Given the description of an element on the screen output the (x, y) to click on. 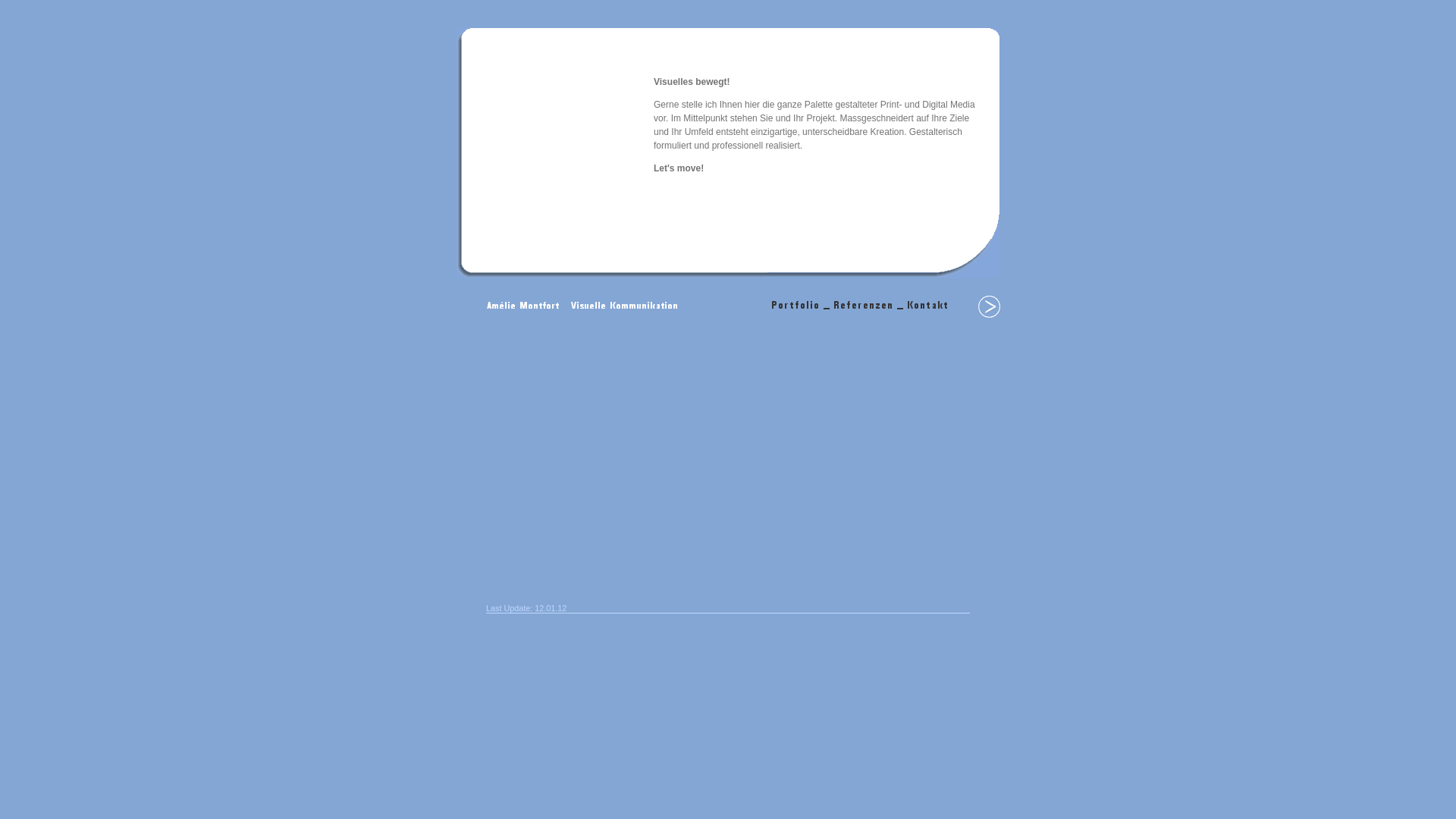
Portfolio Element type: hover (989, 314)
